Given the description of an element on the screen output the (x, y) to click on. 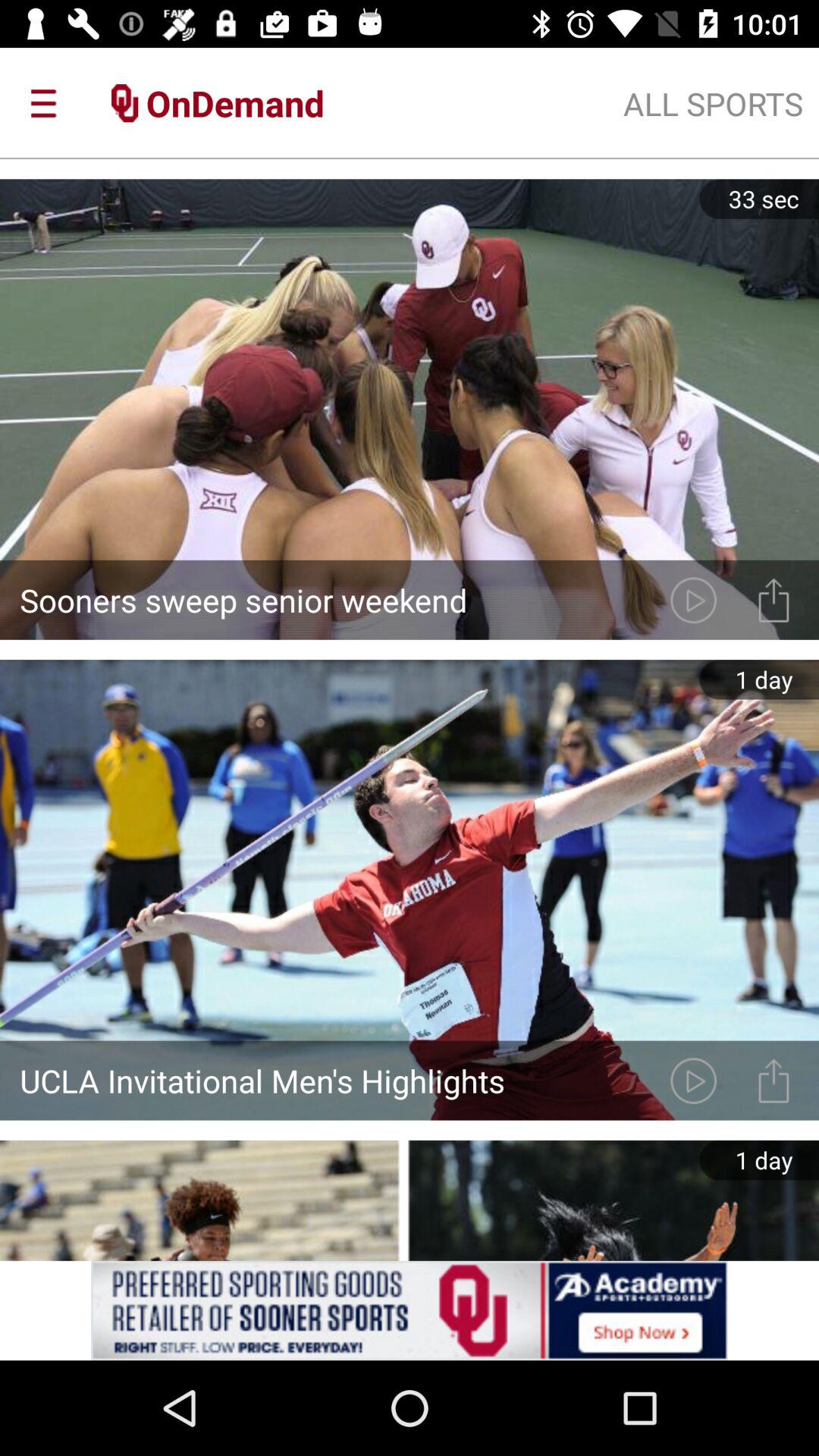
edit (693, 599)
